Given the description of an element on the screen output the (x, y) to click on. 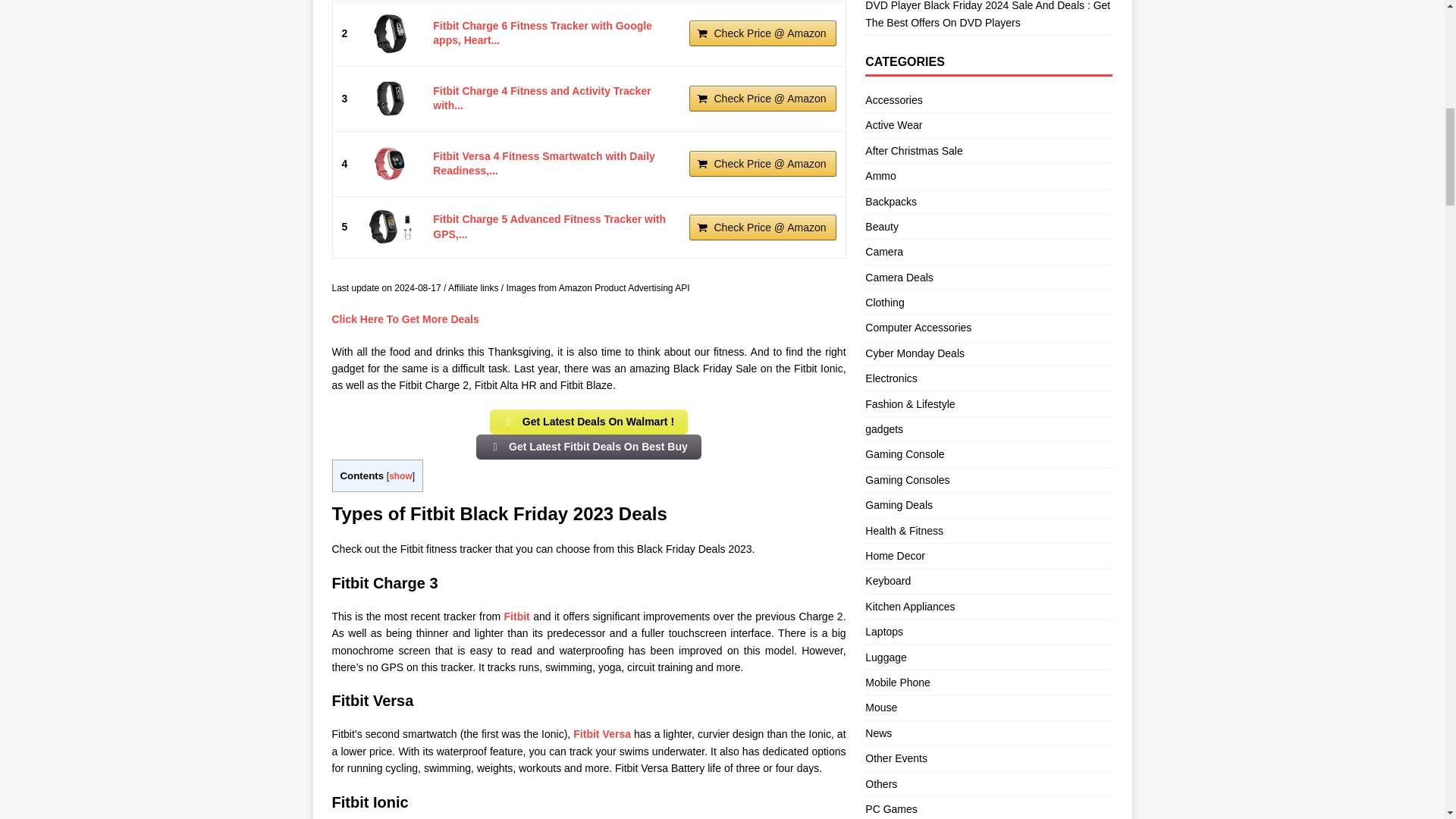
Fitbit Charge 4 Fitness and Activity Tracker with... (389, 98)
Fitbit Charge 5 Advanced Fitness Tracker with GPS,... (389, 227)
Fitbit Charge 4 Fitness and Activity Tracker with... (541, 98)
Fitbit Charge 6 Fitness Tracker with Google apps, Heart... (389, 33)
Fitbit Versa 4 Fitness Smartwatch with Daily Readiness,... (389, 164)
Fitbit Charge 5 Advanced Fitness Tracker with GPS,... (548, 226)
Fitbit Charge 6 Fitness Tracker with Google apps, Heart... (542, 32)
Fitbit Versa 4 Fitness Smartwatch with Daily Readiness,... (543, 163)
